Given the description of an element on the screen output the (x, y) to click on. 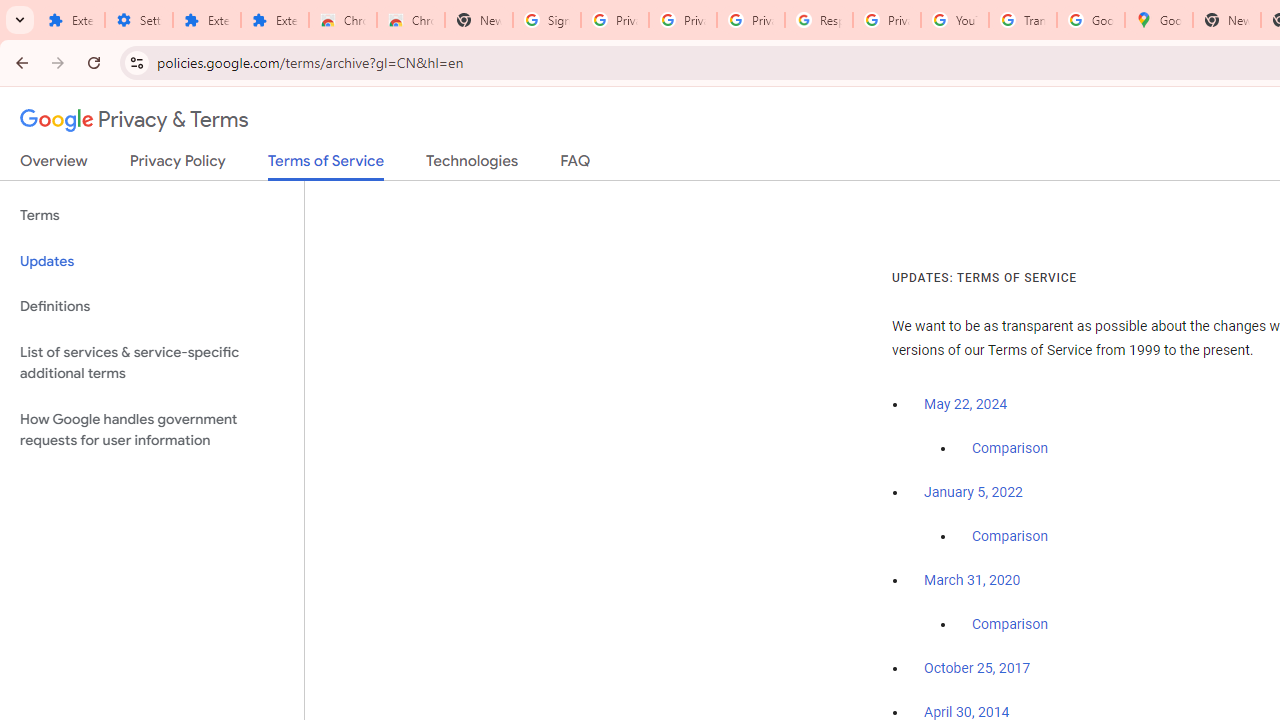
Definitions (152, 306)
May 22, 2024 (966, 404)
List of services & service-specific additional terms (152, 362)
March 31, 2020 (972, 580)
